Given the description of an element on the screen output the (x, y) to click on. 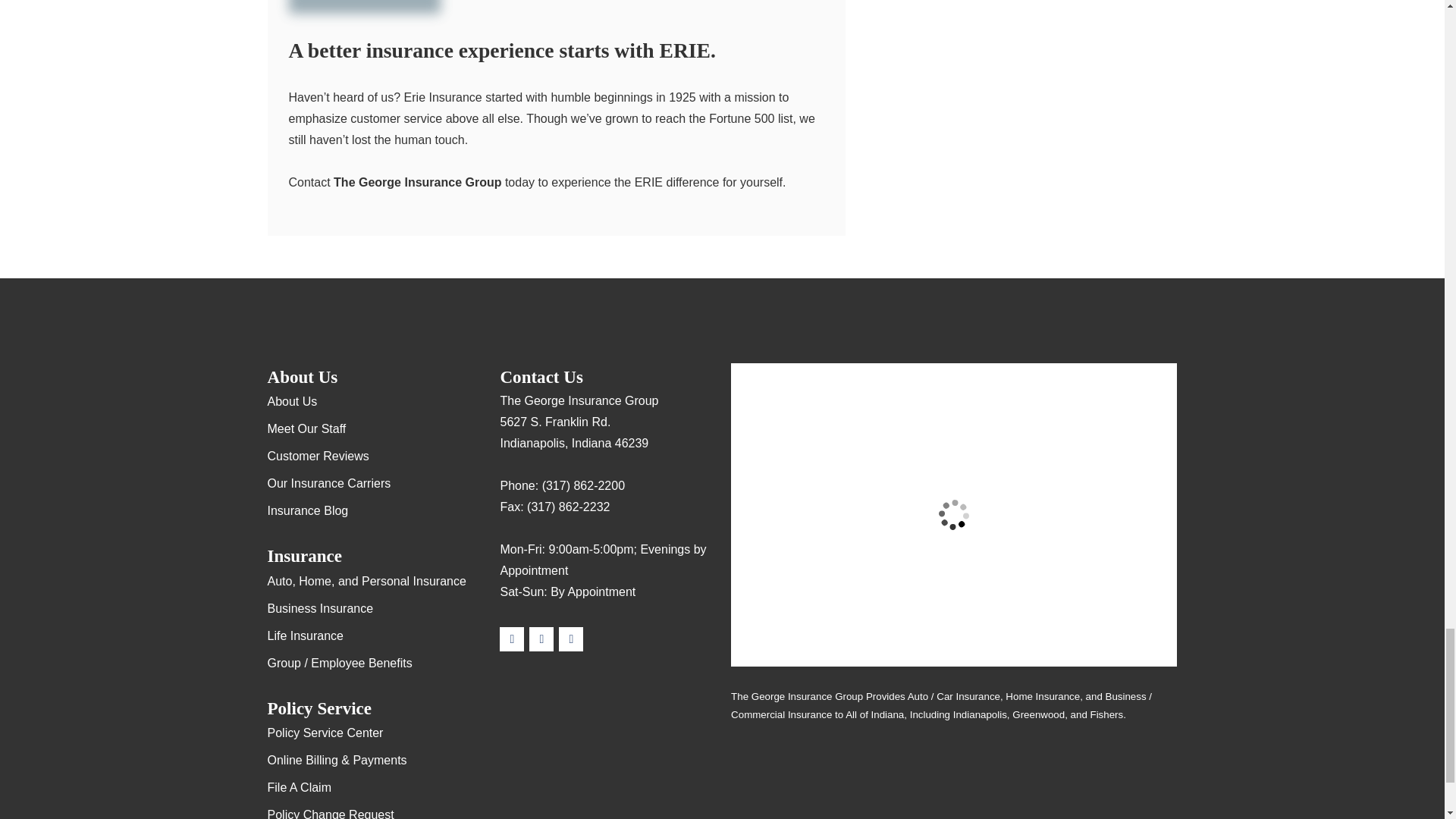
Facebook (571, 639)
Yelp (541, 639)
Google Maps (511, 639)
